Given the description of an element on the screen output the (x, y) to click on. 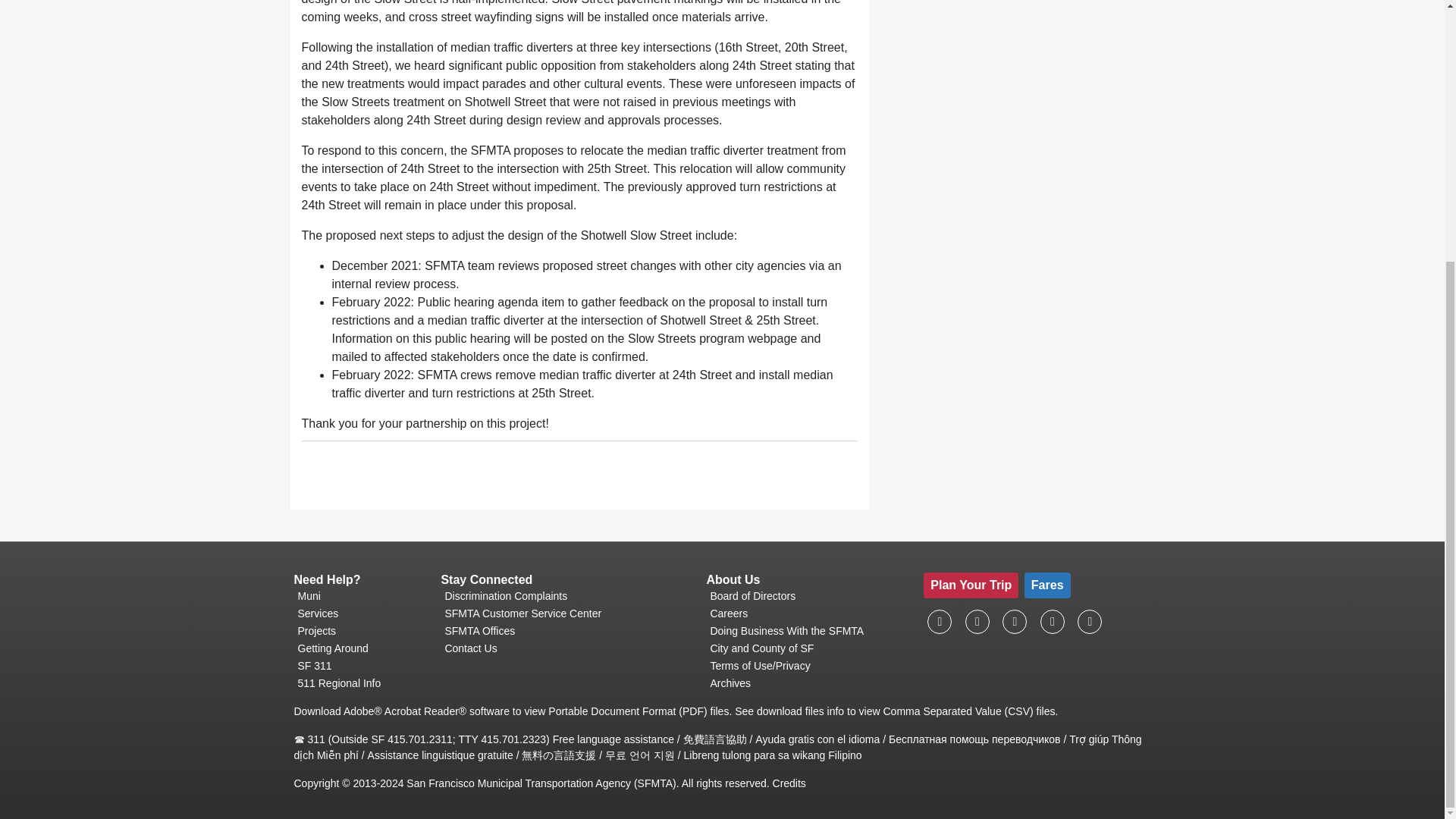
511 Regional Info (361, 683)
Discrimination Complaints (567, 596)
Getting Around (361, 648)
Projects (361, 631)
Muni (361, 596)
Contact Us (567, 648)
11 South Van Ness Avenue (567, 613)
SF 311 (361, 666)
SFMTA Customer Service Center (567, 613)
Services (361, 613)
